Given the description of an element on the screen output the (x, y) to click on. 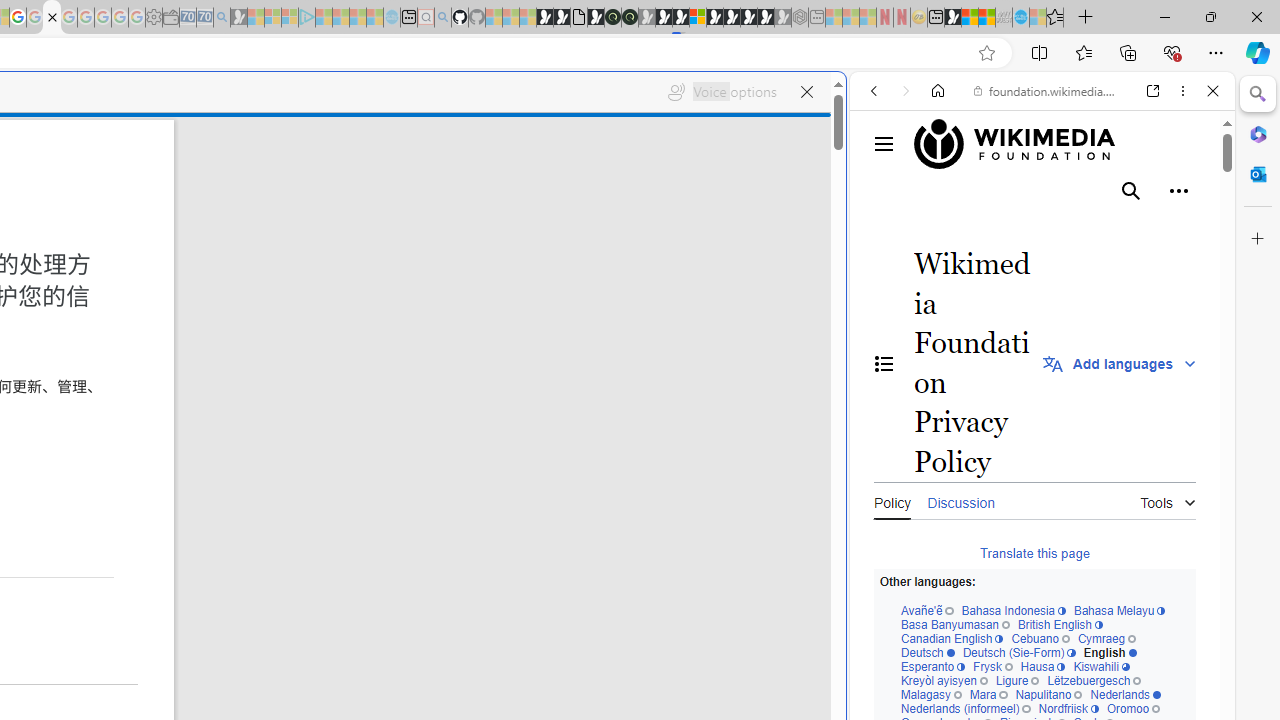
Kiswahili (1101, 667)
Bahasa Melayu (1119, 611)
Cymraeg (1106, 639)
Bahasa Melayu (1119, 611)
Esperanto (932, 667)
Deutsch (Sie-Form) (1019, 652)
SEARCH TOOLS (1093, 228)
Ligure (1016, 681)
